Given the description of an element on the screen output the (x, y) to click on. 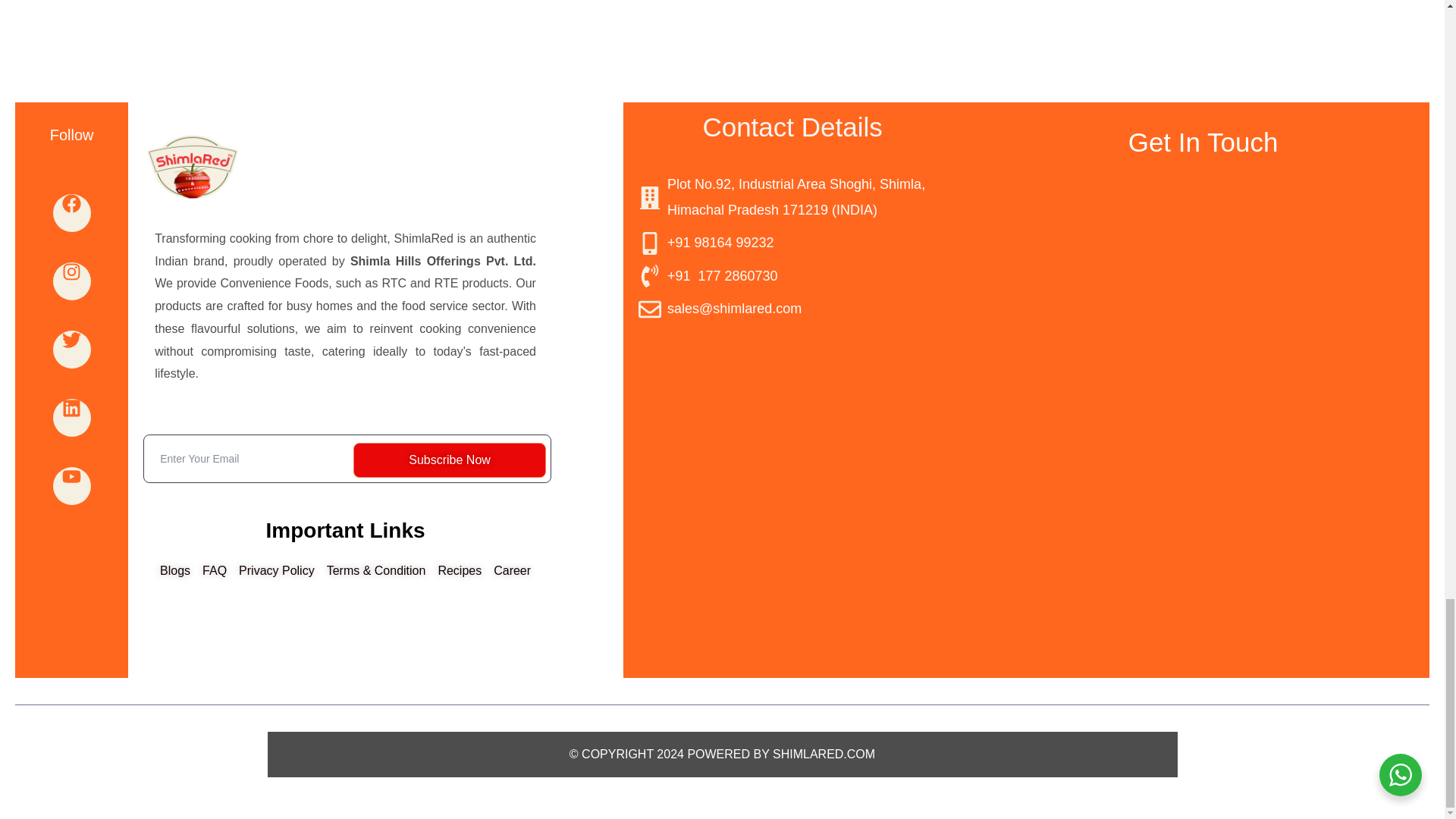
ShimlaRed (792, 439)
